Given the description of an element on the screen output the (x, y) to click on. 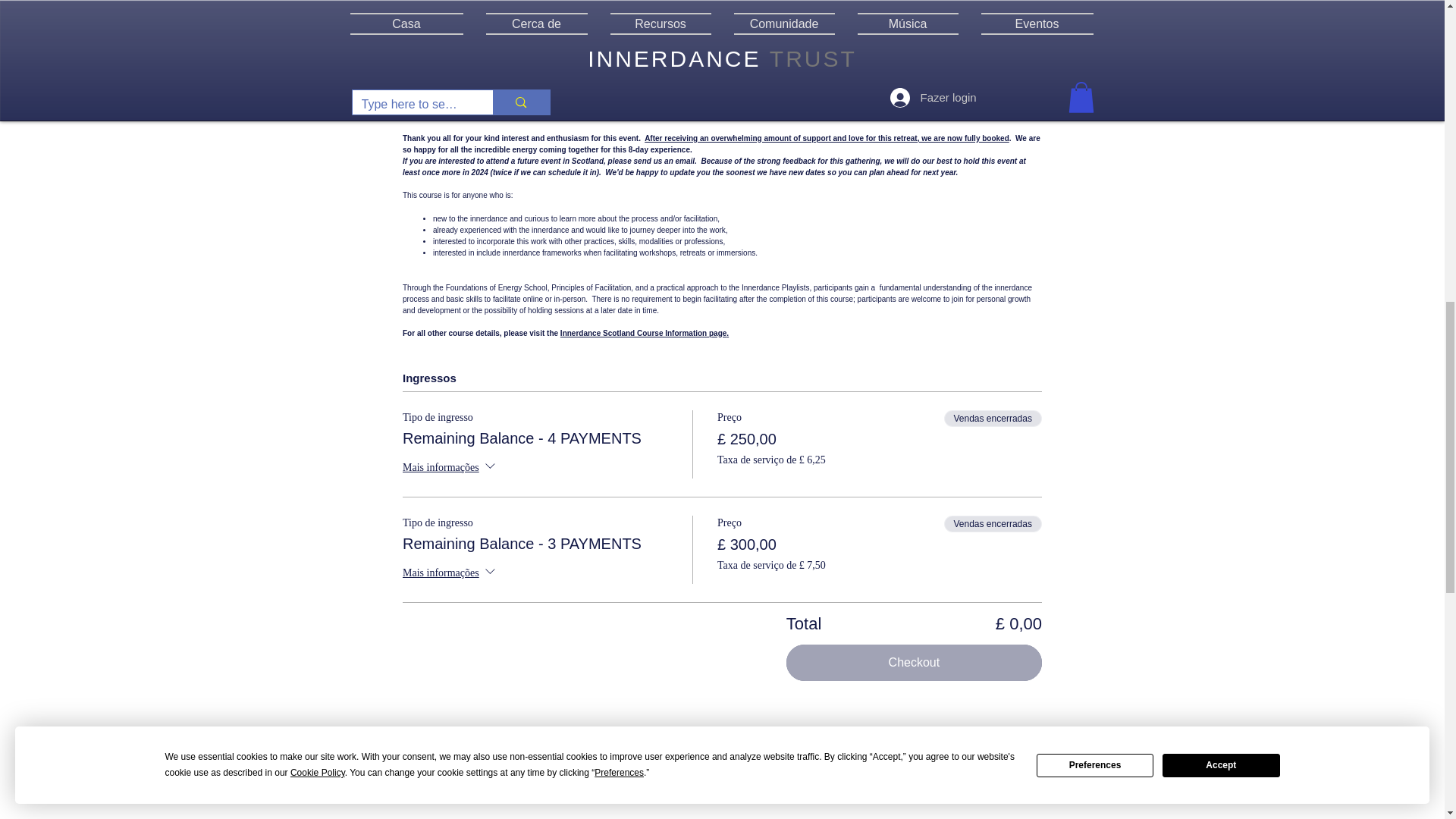
Checkout (914, 662)
Innerdance Scotland Course Information page (643, 333)
